Given the description of an element on the screen output the (x, y) to click on. 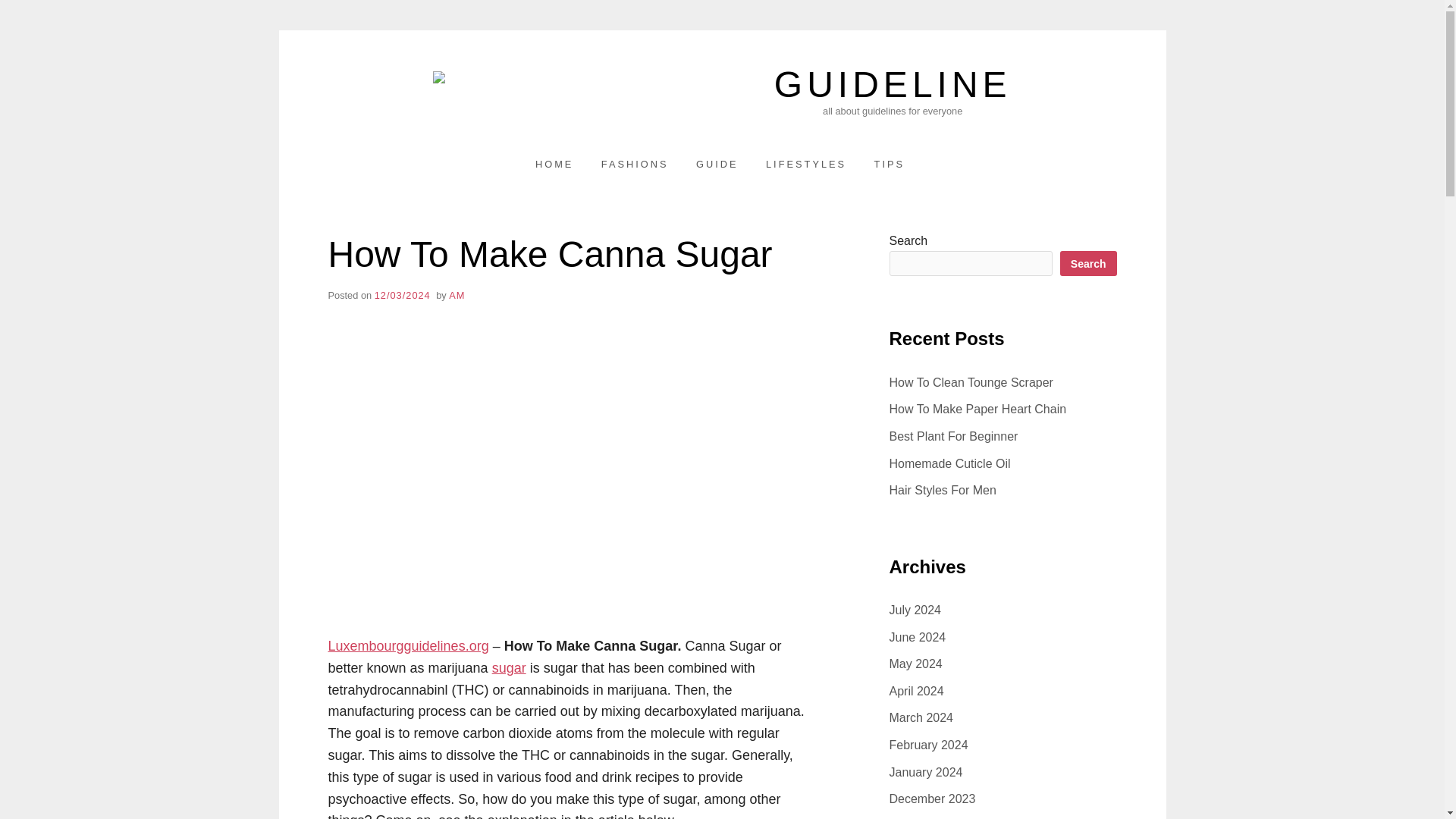
sugar (508, 667)
FASHIONS (635, 163)
GUIDE (716, 163)
January 2024 (925, 771)
July 2024 (914, 609)
Hair Styles For Men (941, 490)
Best Plant For Beginner (952, 436)
March 2024 (920, 717)
February 2024 (928, 744)
TIPS (889, 163)
December 2023 (931, 798)
April 2024 (915, 690)
June 2024 (916, 636)
Homemade Cuticle Oil (949, 463)
